Given the description of an element on the screen output the (x, y) to click on. 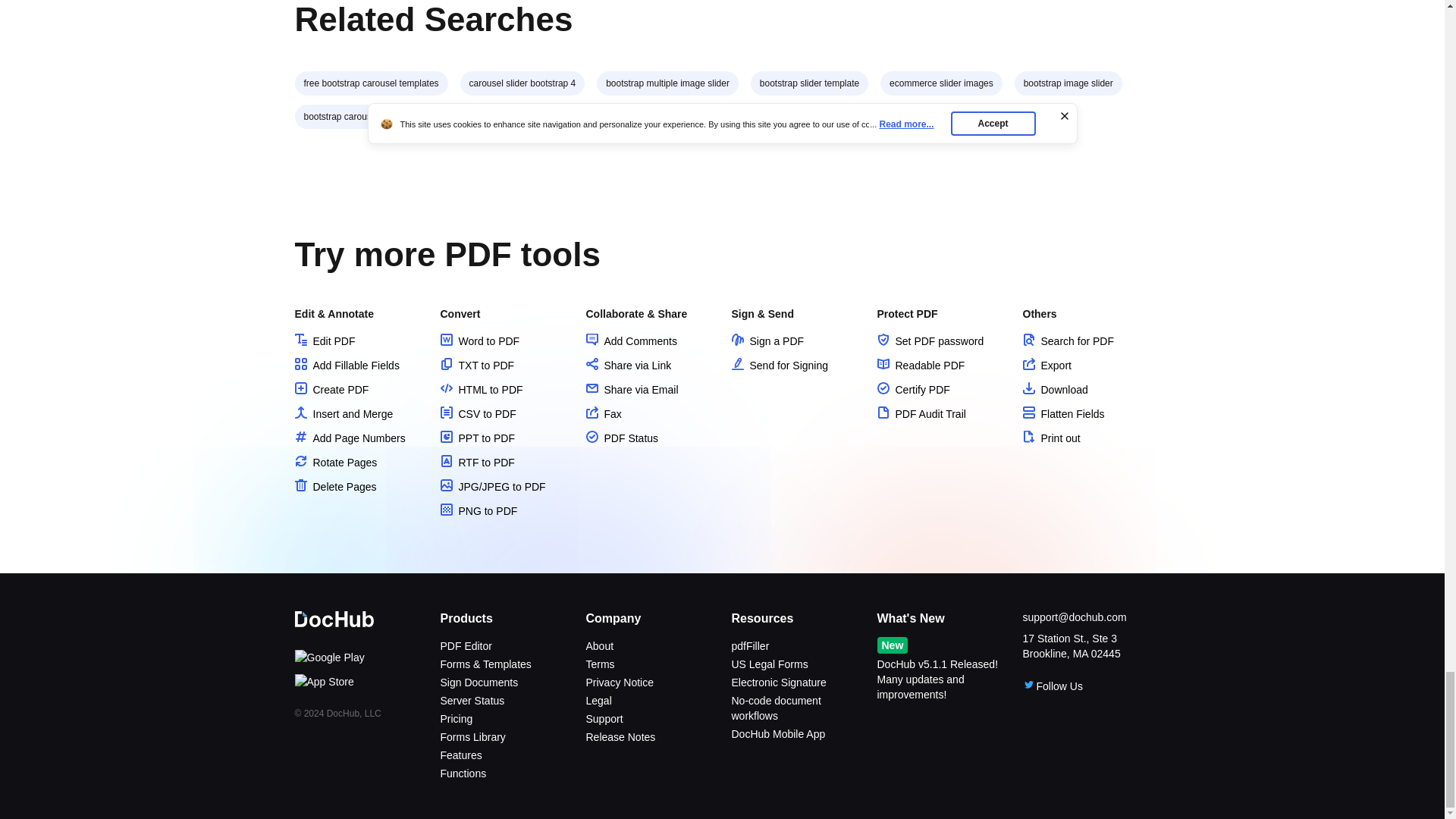
Add Fillable Fields (346, 365)
Fax (603, 413)
Share via Email (631, 389)
Share via Link (628, 365)
CSV to PDF (477, 413)
PPT to PDF (476, 438)
Edit PDF (324, 340)
RTF to PDF (476, 462)
Word to PDF (479, 340)
Add Page Numbers (349, 438)
Rotate Pages (335, 462)
TXT to PDF (476, 365)
PNG to PDF (477, 510)
Delete Pages (334, 486)
HTML to PDF (480, 389)
